Given the description of an element on the screen output the (x, y) to click on. 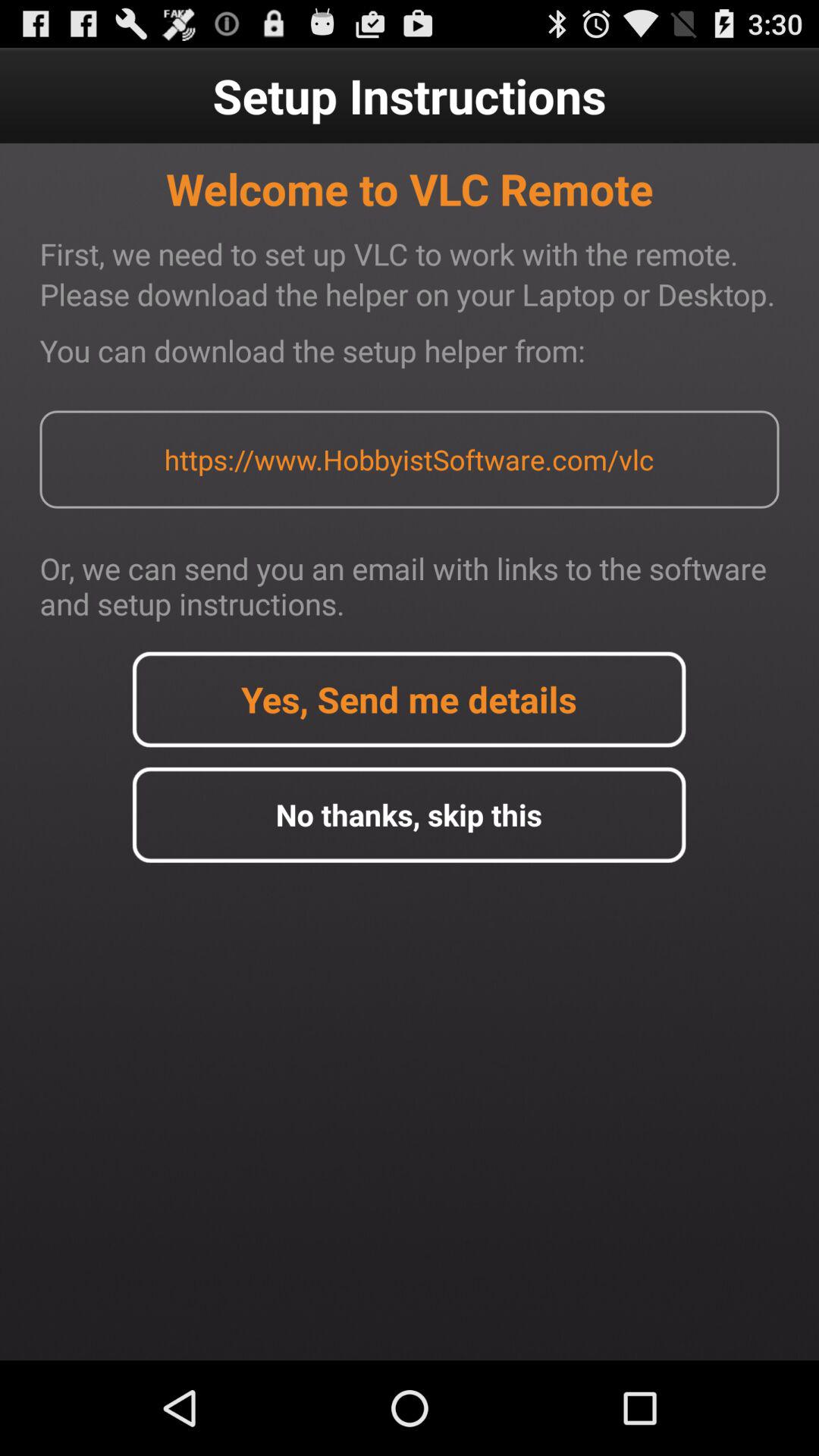
send email with helper software information (408, 699)
